Given the description of an element on the screen output the (x, y) to click on. 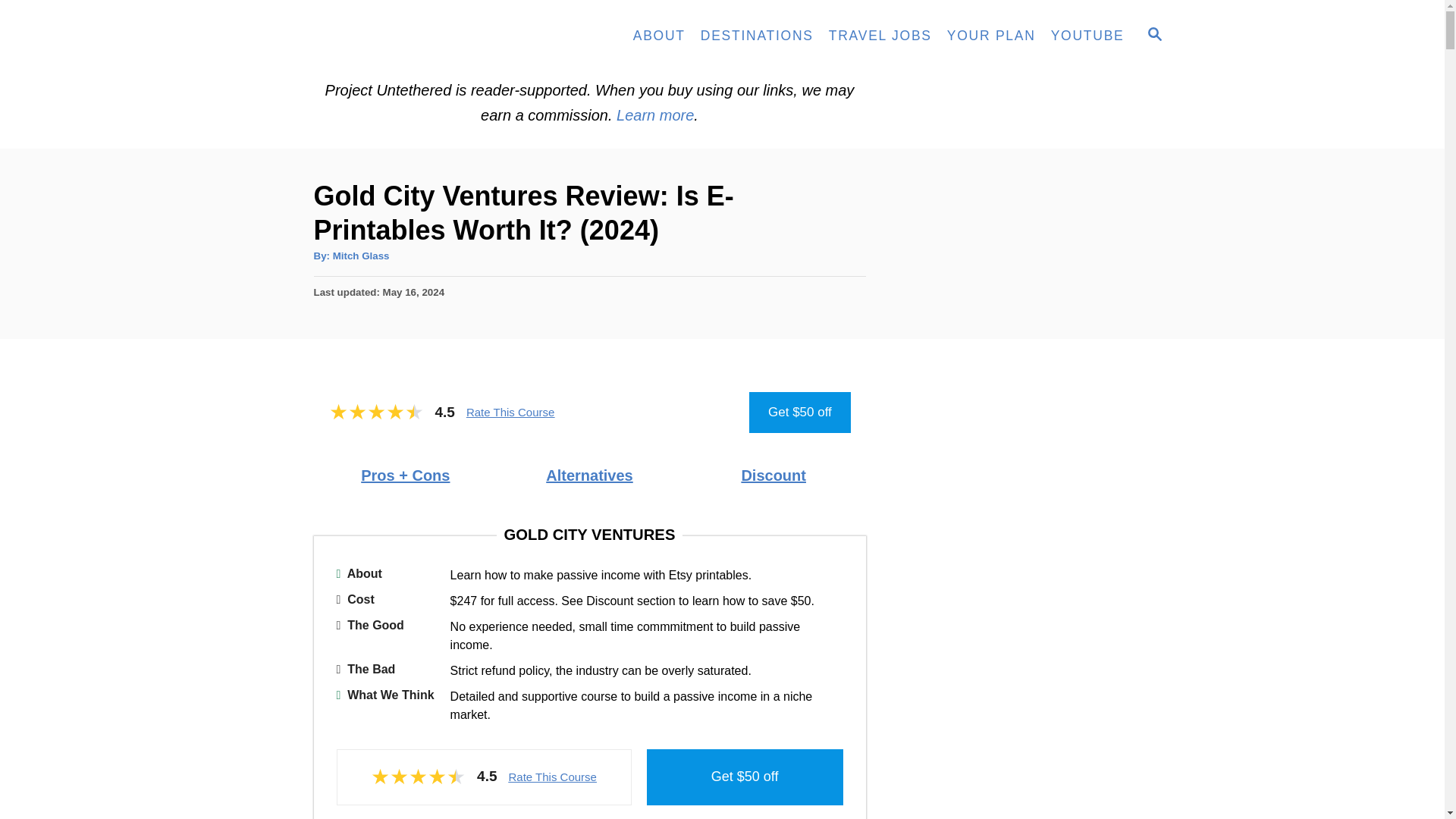
Mitch Glass (361, 255)
SEARCH (1153, 35)
Cost (387, 601)
Project Untethered (403, 36)
YOUTUBE (1087, 36)
DESTINATIONS (757, 36)
TRAVEL JOBS (880, 36)
Alternatives (589, 475)
YOUR PLAN (991, 36)
Rate This Course (509, 411)
ABOUT (659, 36)
Learn more (654, 114)
Overview (387, 575)
Positives (387, 636)
Negatives (387, 670)
